Given the description of an element on the screen output the (x, y) to click on. 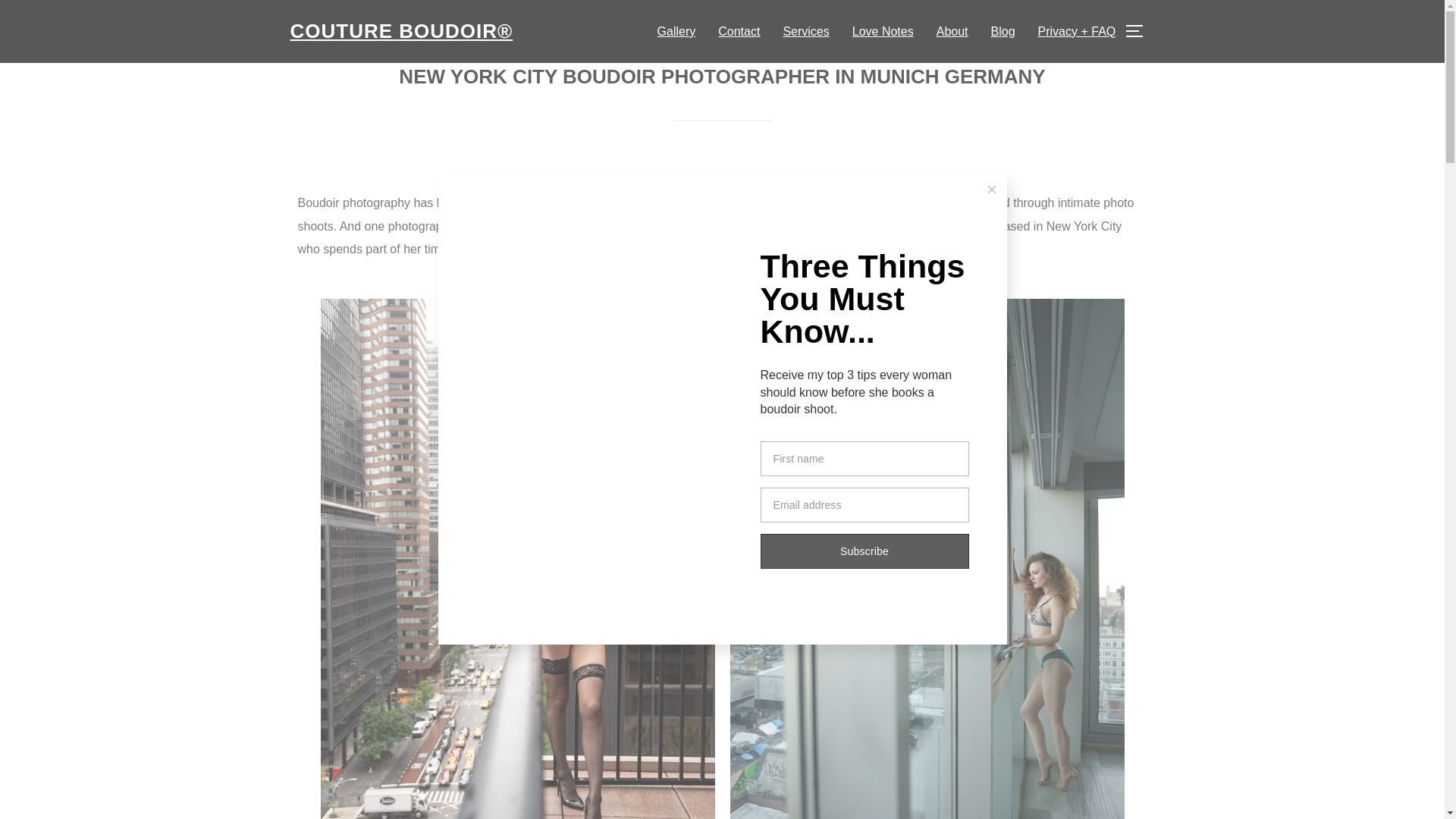
Love Notes (882, 30)
About (952, 30)
Charlotte Boudoir Photography by Critsey Rowe (400, 31)
Services (805, 30)
Munich, Germany (542, 248)
Gallery (676, 30)
Contact (738, 30)
